Given the description of an element on the screen output the (x, y) to click on. 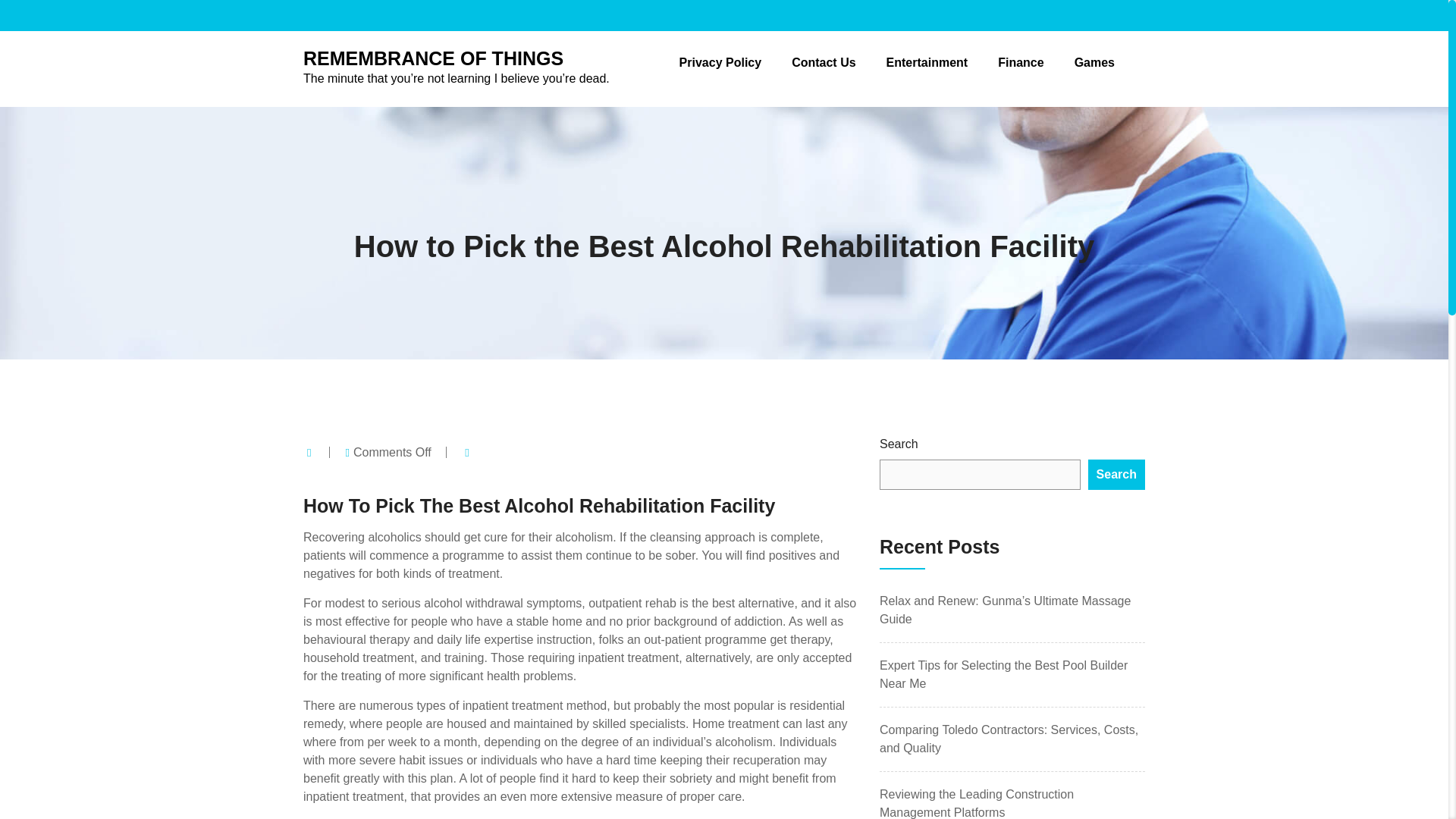
Contact Us (824, 62)
Search (1115, 474)
Reviewing the Leading Construction Management Platforms (976, 803)
Games (1094, 62)
Entertainment (927, 62)
Privacy Policy (720, 62)
Comparing Toledo Contractors: Services, Costs, and Quality (1008, 738)
Finance (1020, 62)
How to Pick the Best Alcohol Rehabilitation Facility (723, 246)
Expert Tips for Selecting the Best Pool Builder Near Me (1002, 674)
